Given the description of an element on the screen output the (x, y) to click on. 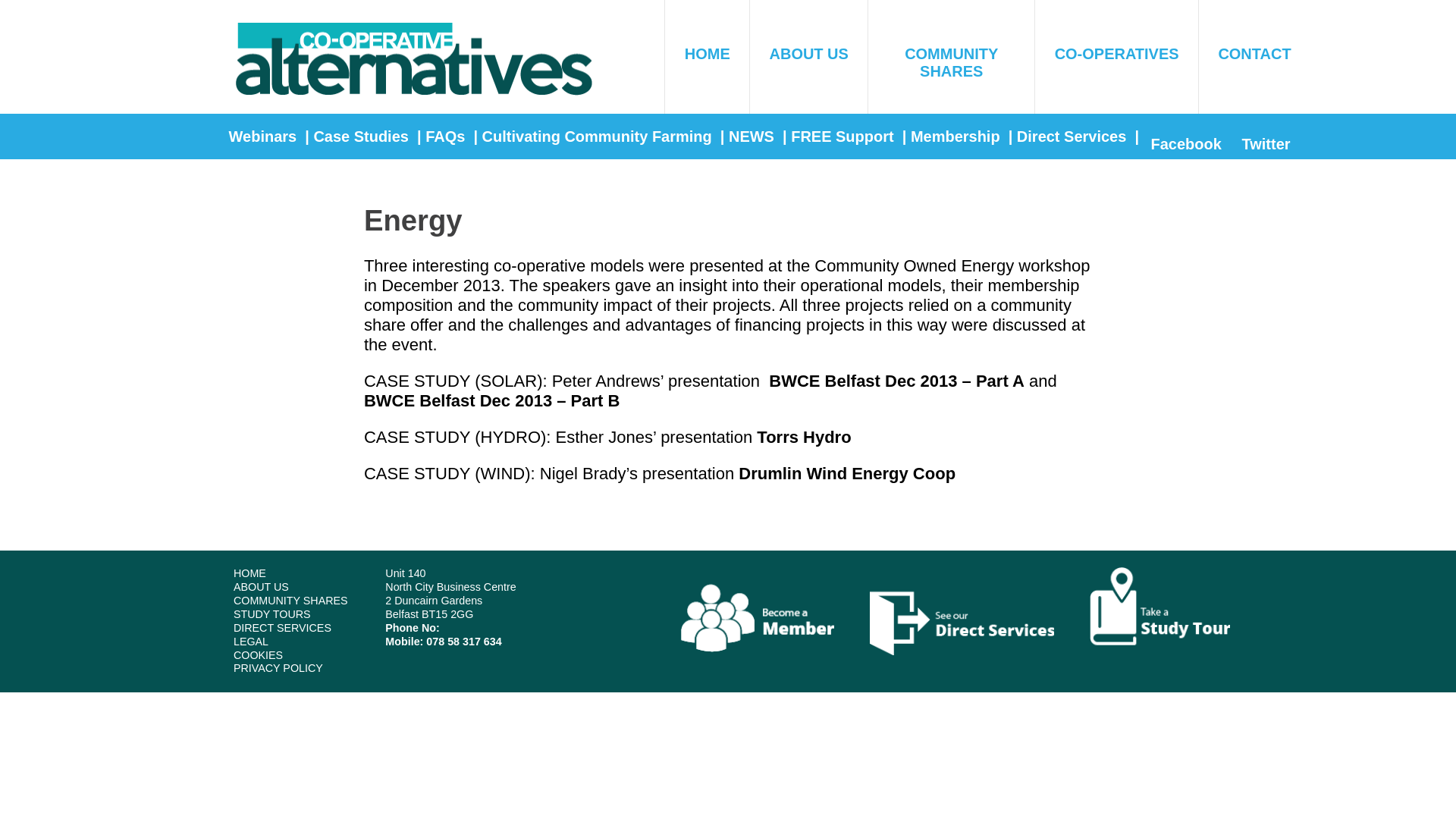
 Direct Services   (1072, 135)
Torrs Hydro (803, 436)
COMMUNITY SHARES (950, 53)
 FREE Support   (844, 135)
 Twitter   (1267, 144)
 FAQs   (448, 135)
 NEWS   (753, 135)
 Facebook   (1188, 144)
About Co-operative Alternatives (808, 44)
What is a Community Share offer? (950, 53)
